Given the description of an element on the screen output the (x, y) to click on. 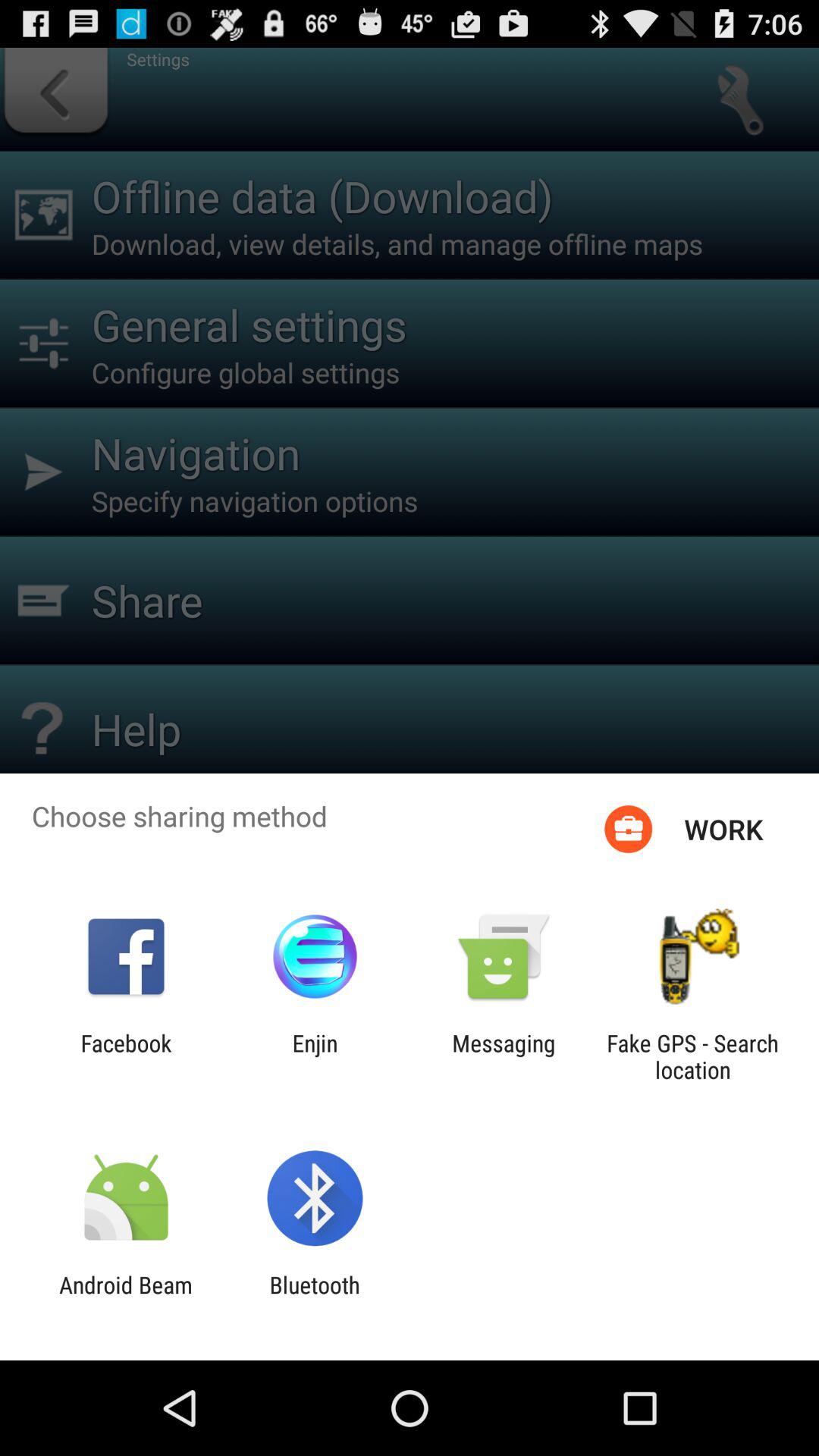
launch facebook item (125, 1056)
